Given the description of an element on the screen output the (x, y) to click on. 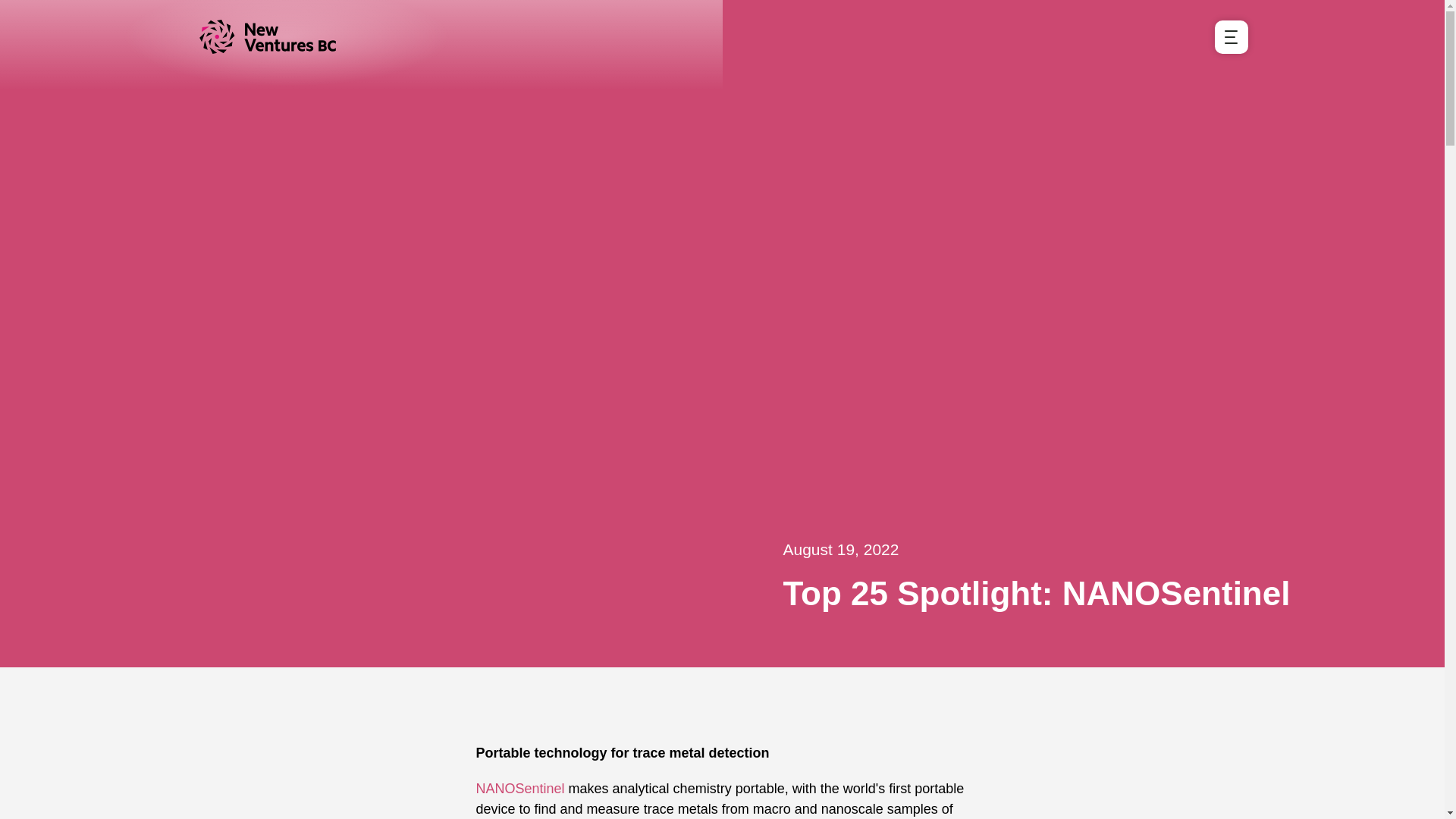
NANOSentinel (520, 788)
New Ventures BC (285, 37)
Top 25 Spotlight: NANOSentinel (1106, 593)
August 19, 2022 (1106, 549)
